Given the description of an element on the screen output the (x, y) to click on. 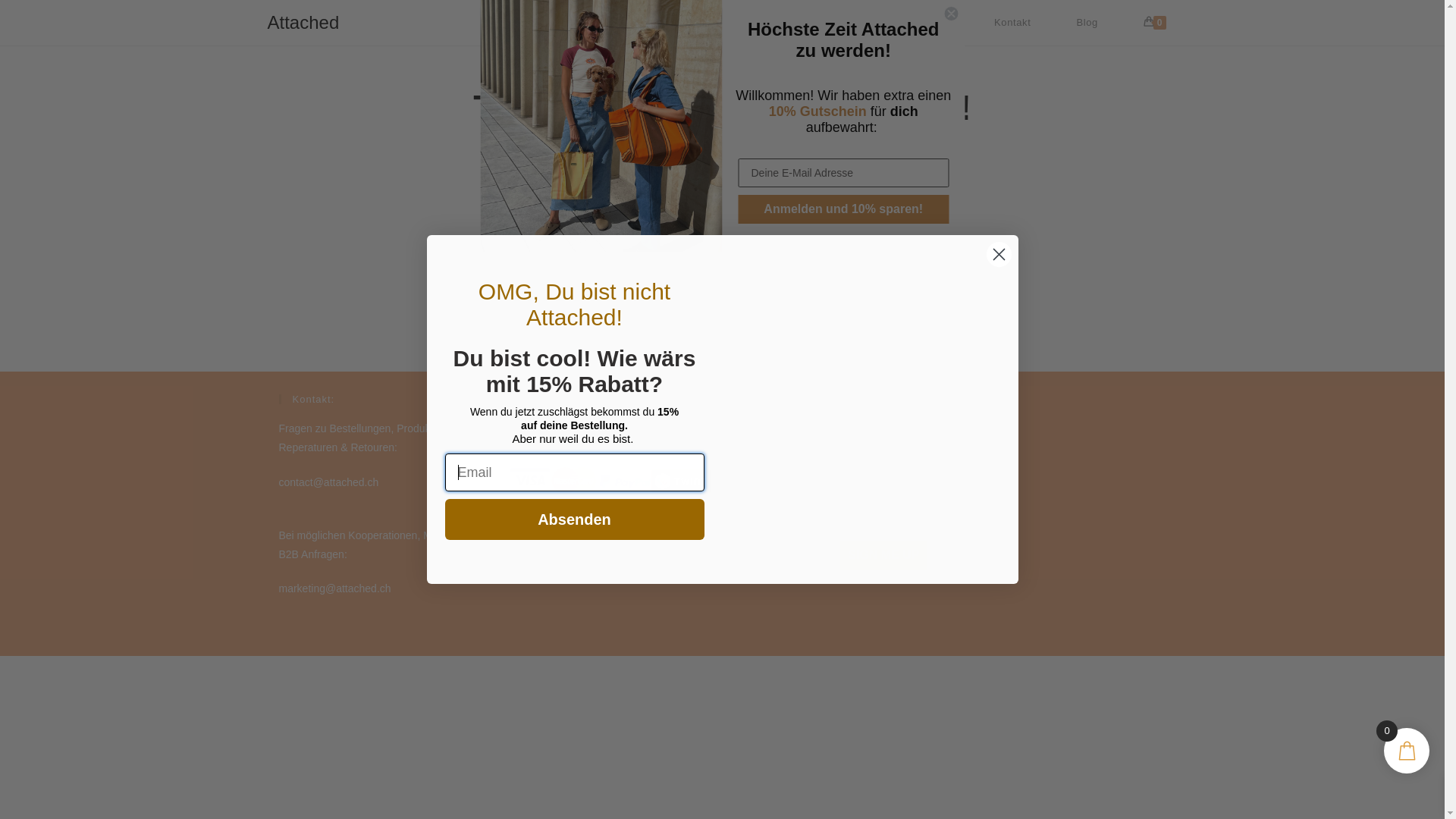
Absenden Element type: text (573, 518)
0 Element type: text (1154, 22)
SIGN ME UP Element type: text (883, 554)
Home Element type: text (565, 22)
Anmelden und 10% sparen! Element type: text (843, 208)
Shop Element type: text (644, 22)
Blog Element type: text (1086, 22)
Attached Element type: text (302, 22)
Submit Element type: text (35, 15)
About Attached Element type: text (904, 22)
BACK TO HOMEPAGE Element type: text (721, 317)
Unser B2B Service Element type: text (762, 22)
Kontakt Element type: text (1012, 22)
